Given the description of an element on the screen output the (x, y) to click on. 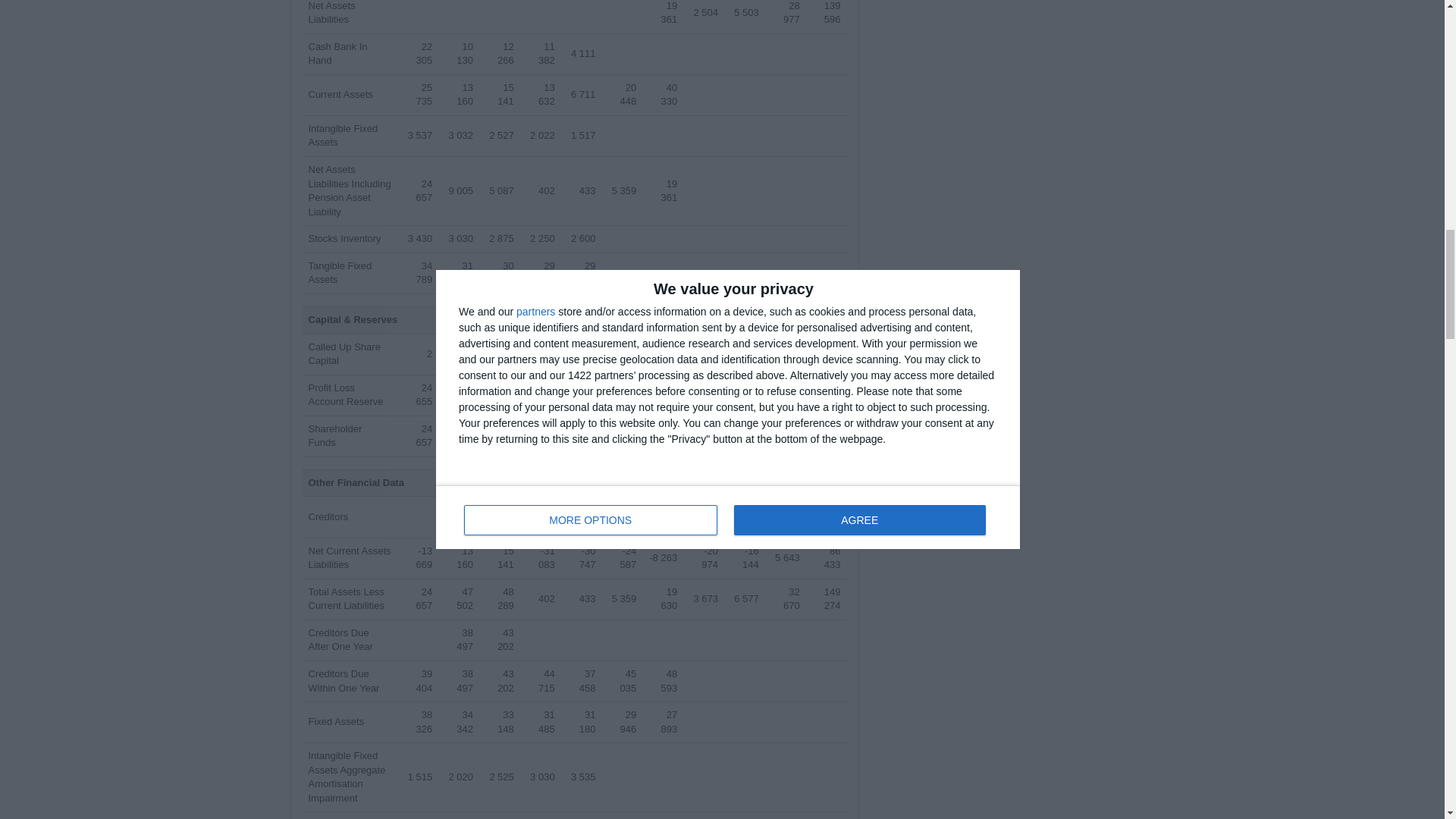
Assets to be used or sold within a year (339, 93)
NetAssetsLiabilities (331, 12)
Held by a company in the form of notes and coins (336, 53)
